Given the description of an element on the screen output the (x, y) to click on. 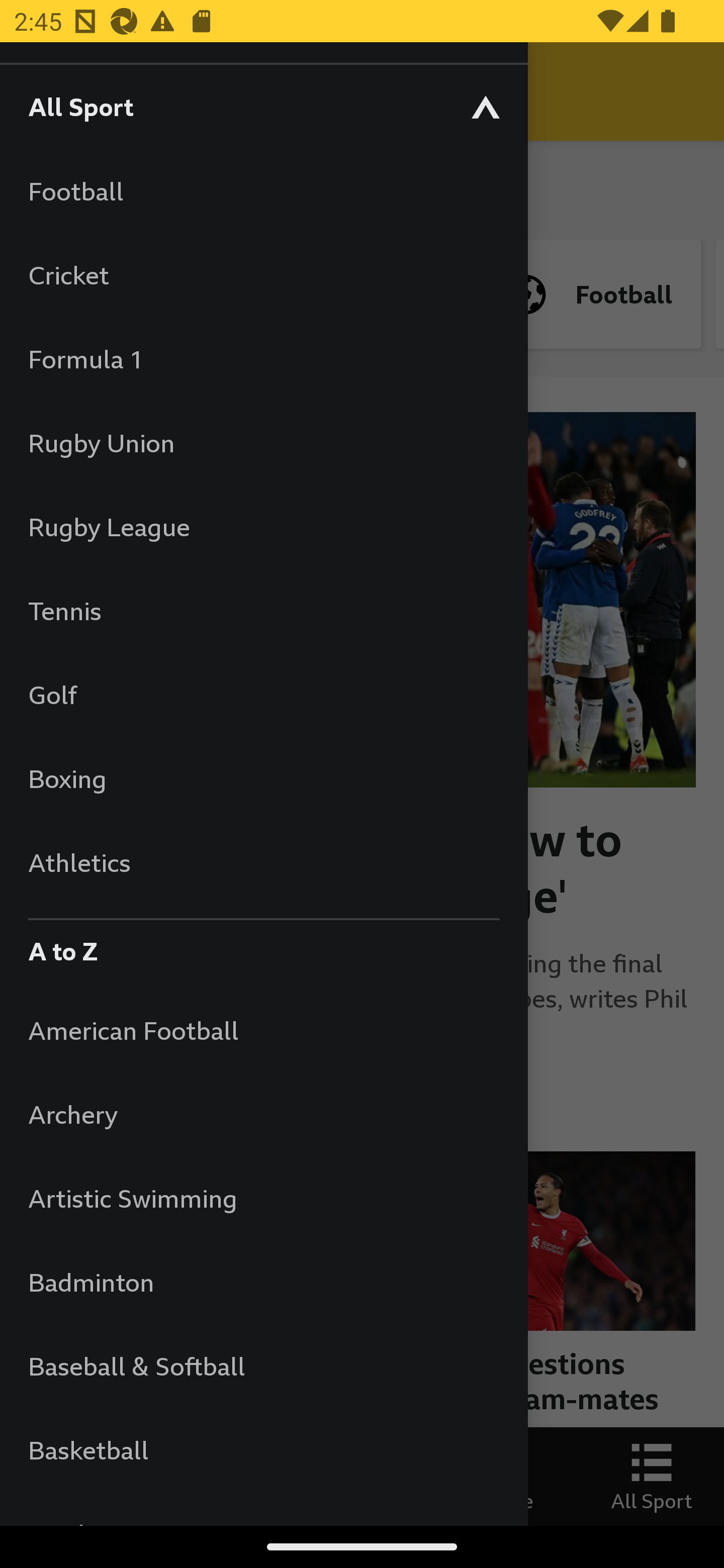
All Sport (263, 105)
Football (263, 190)
Cricket (263, 274)
Formula 1 (263, 358)
Rugby Union (263, 441)
Rugby League (263, 526)
Tennis (263, 609)
Golf (263, 694)
Boxing (263, 778)
Athletics (263, 862)
A to Z (263, 945)
American Football (263, 1029)
Archery (263, 1114)
Artistic Swimming (263, 1197)
Badminton (263, 1282)
Baseball & Softball (263, 1365)
Basketball (263, 1450)
